Given the description of an element on the screen output the (x, y) to click on. 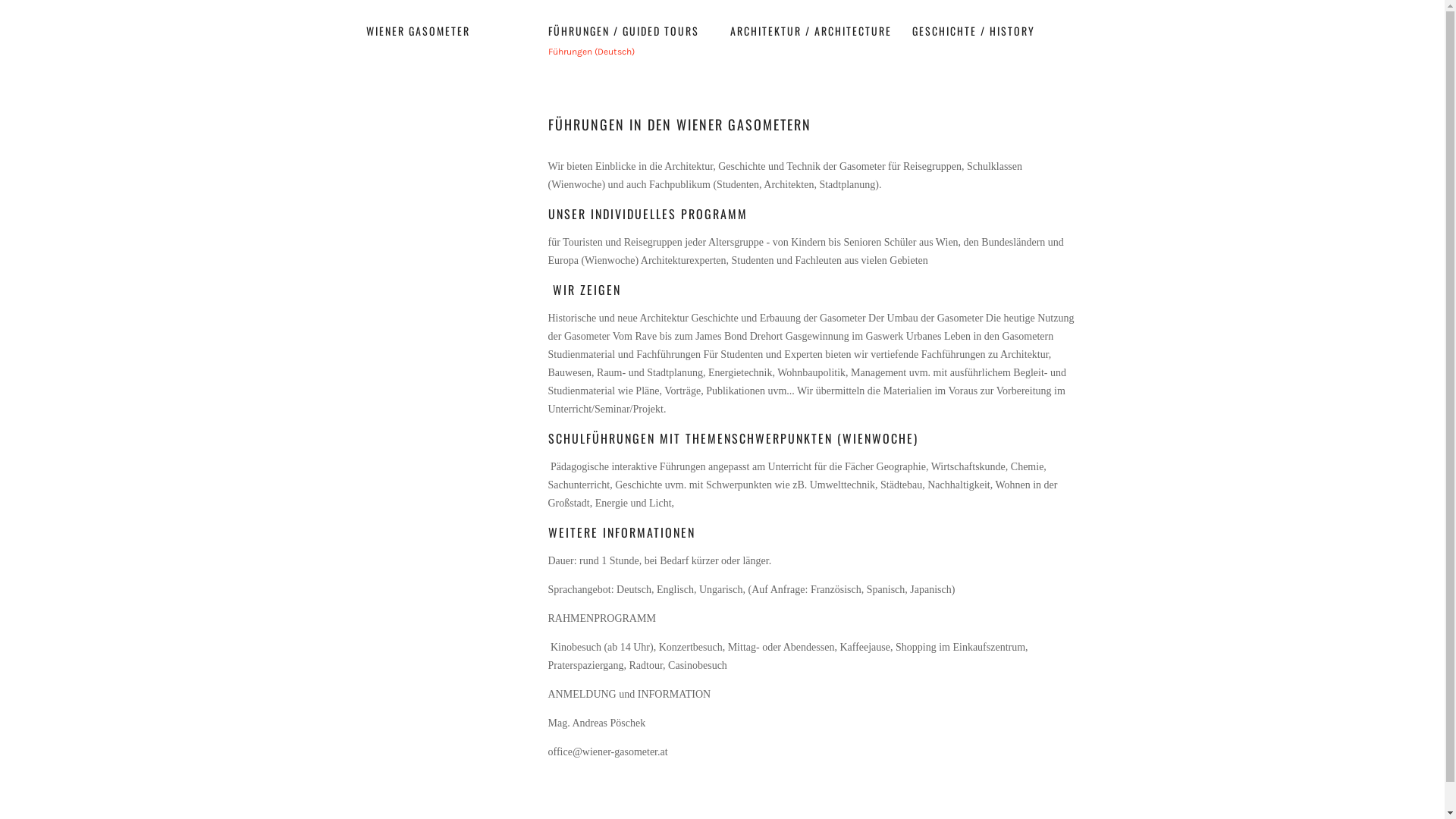
WIENER GASOMETER Element type: text (417, 30)
